Given the description of an element on the screen output the (x, y) to click on. 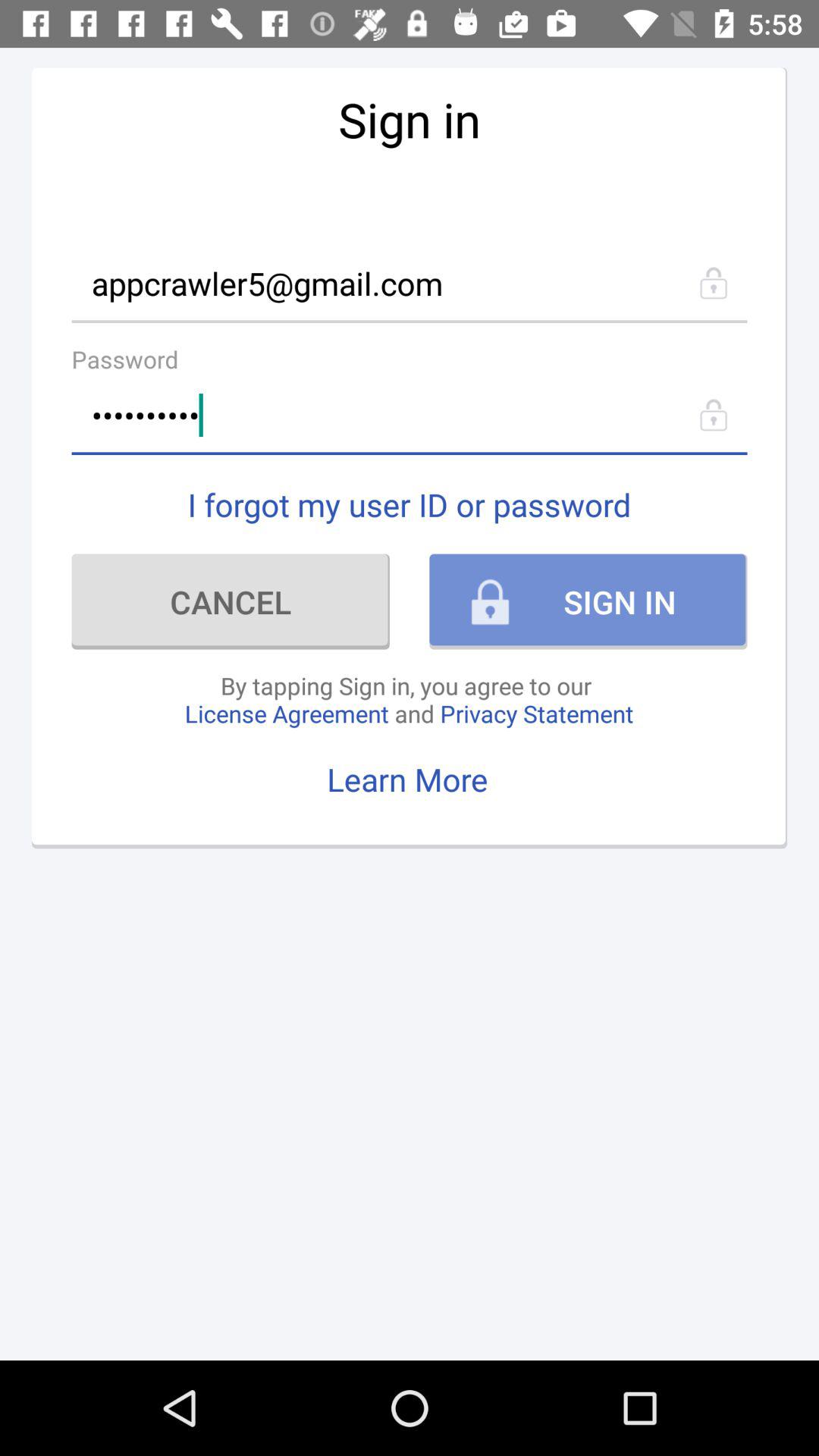
flip until the crowd3116# (409, 415)
